Given the description of an element on the screen output the (x, y) to click on. 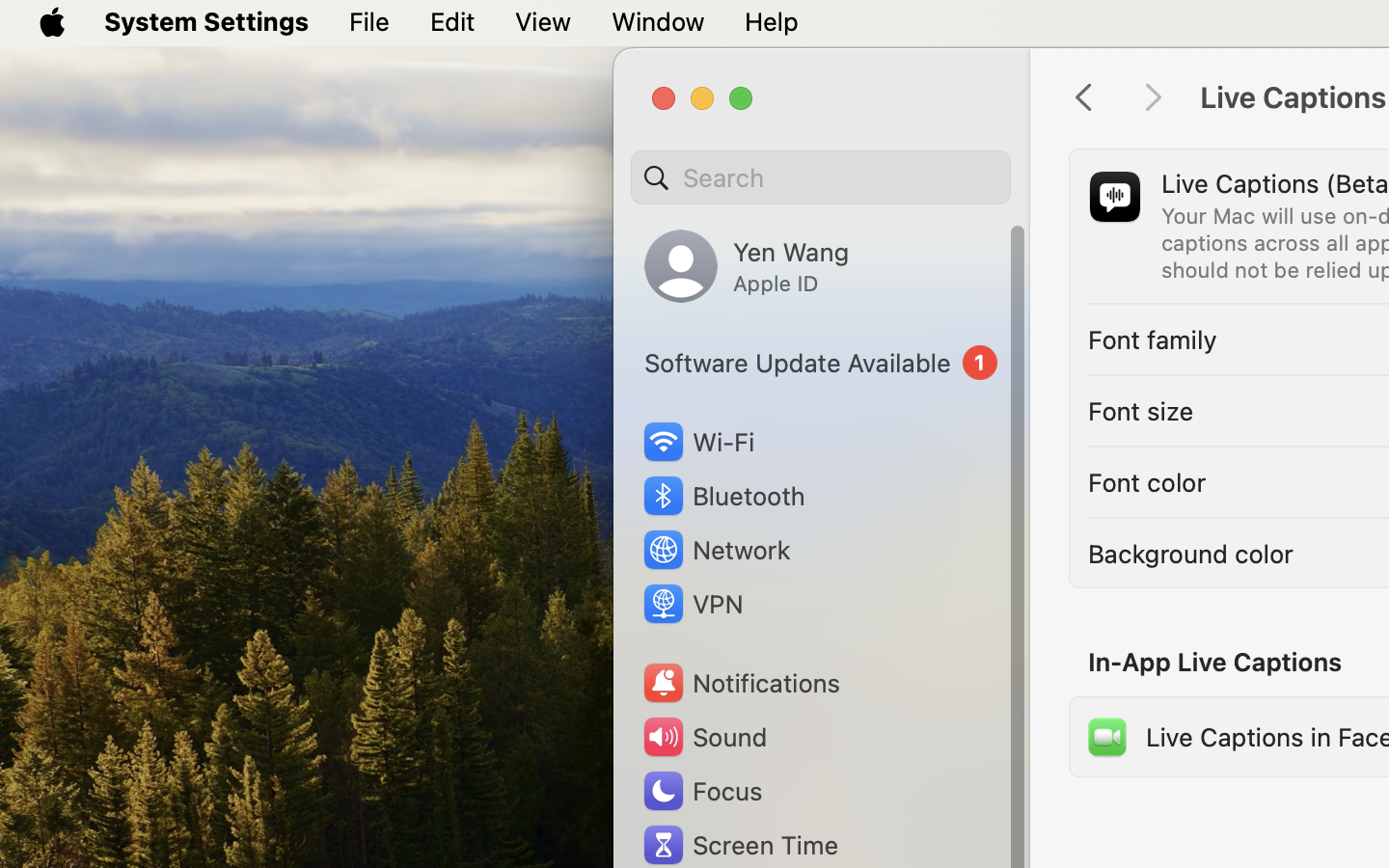
Wi‑Fi Element type: AXStaticText (697, 441)
Font color Element type: AXStaticText (1146, 481)
Font size Element type: AXStaticText (1141, 410)
Font family Element type: AXStaticText (1152, 339)
Network Element type: AXStaticText (715, 549)
